Given the description of an element on the screen output the (x, y) to click on. 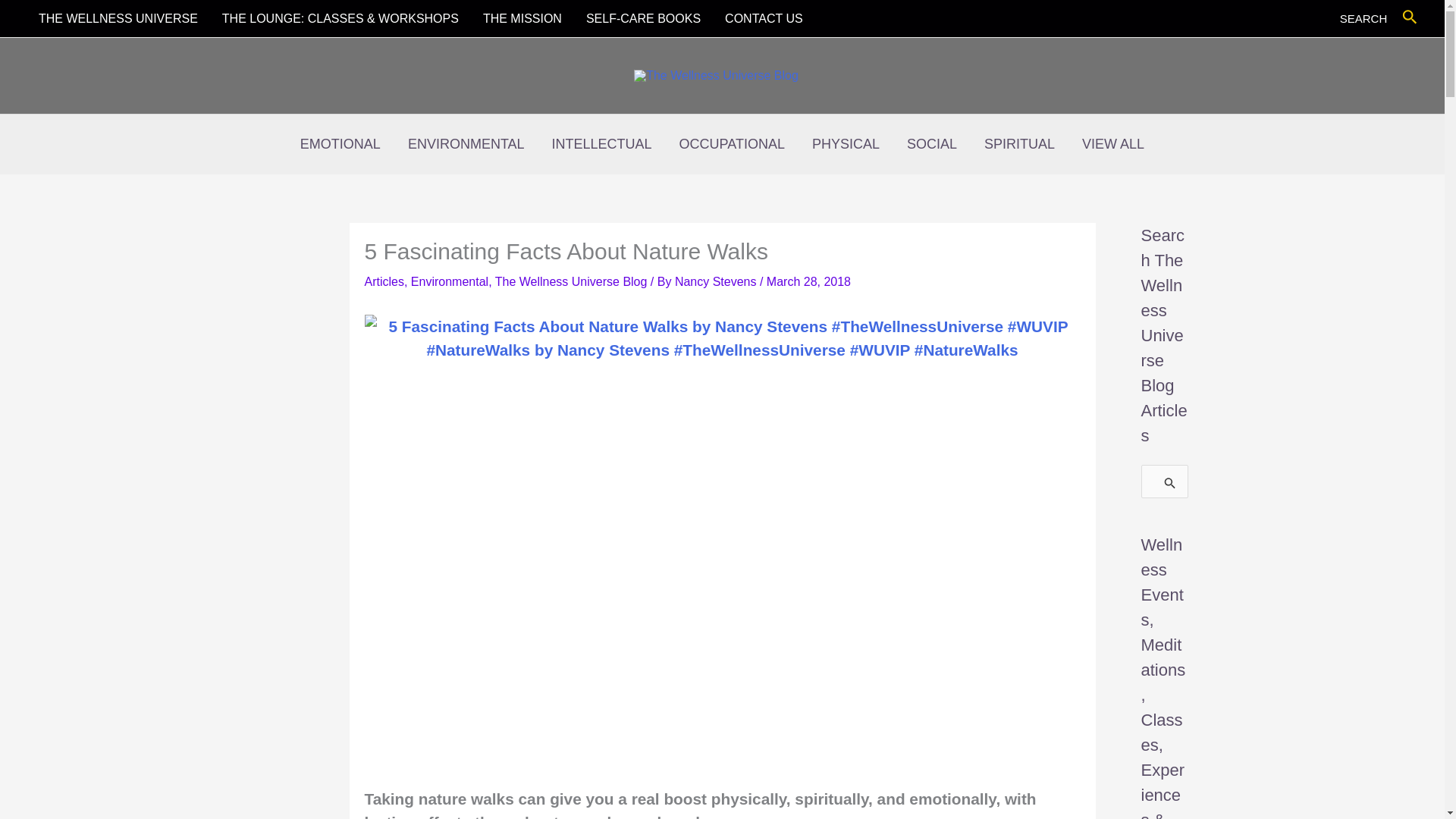
SELF-CARE BOOKS (643, 18)
Articles (383, 281)
CONTACT US (764, 18)
EMOTIONAL (340, 144)
PHYSICAL (845, 144)
Environmental (448, 281)
VIEW ALL (1112, 144)
SPIRITUAL (1019, 144)
Nancy Stevens (717, 281)
ENVIRONMENTAL (466, 144)
